Given the description of an element on the screen output the (x, y) to click on. 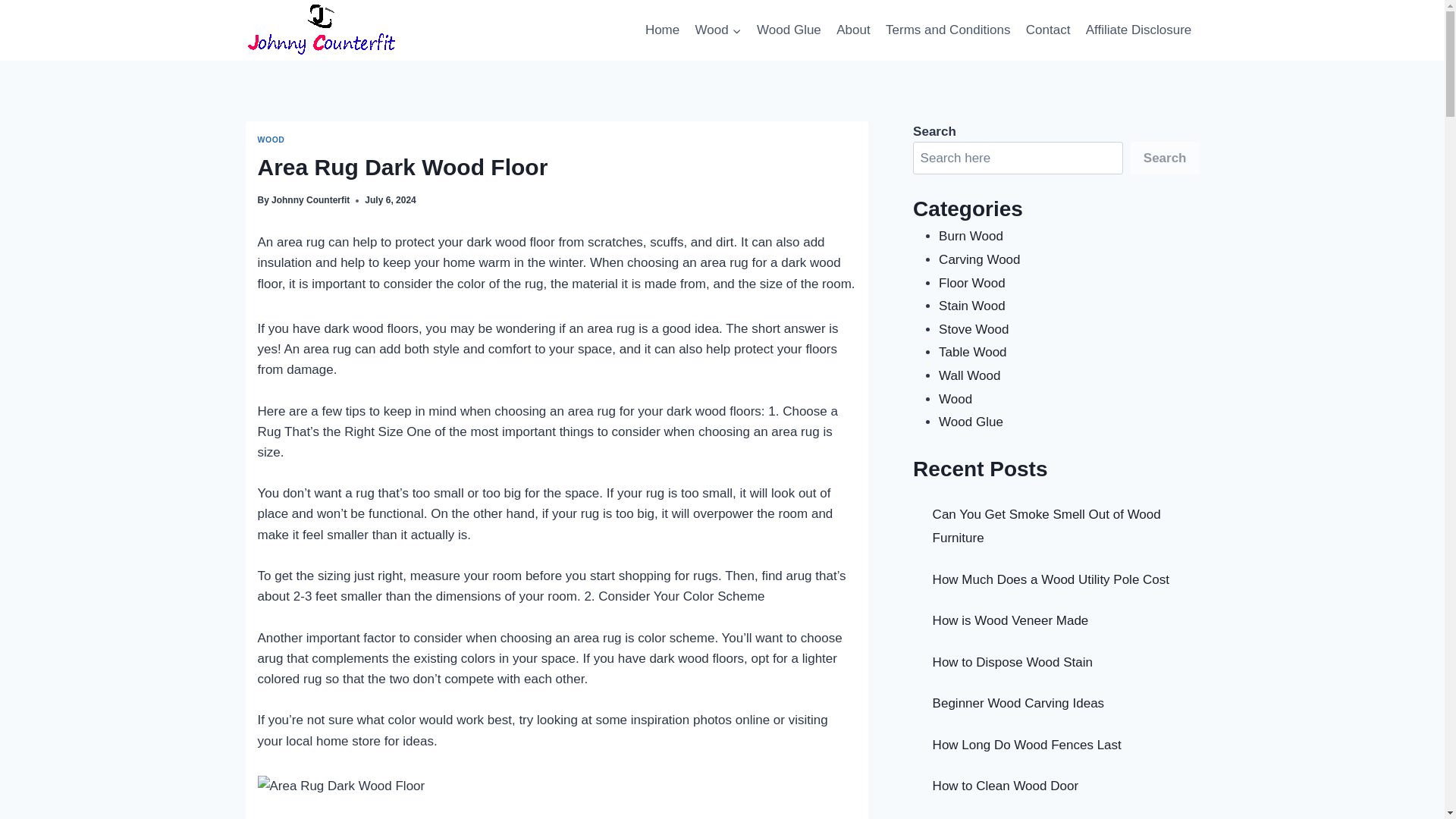
Wood Glue (788, 30)
Home (662, 30)
Terms and Conditions (947, 30)
WOOD (271, 139)
Johnny Counterfit (309, 199)
About (852, 30)
Affiliate Disclosure (1138, 30)
Wood (717, 30)
Contact (1047, 30)
